Given the description of an element on the screen output the (x, y) to click on. 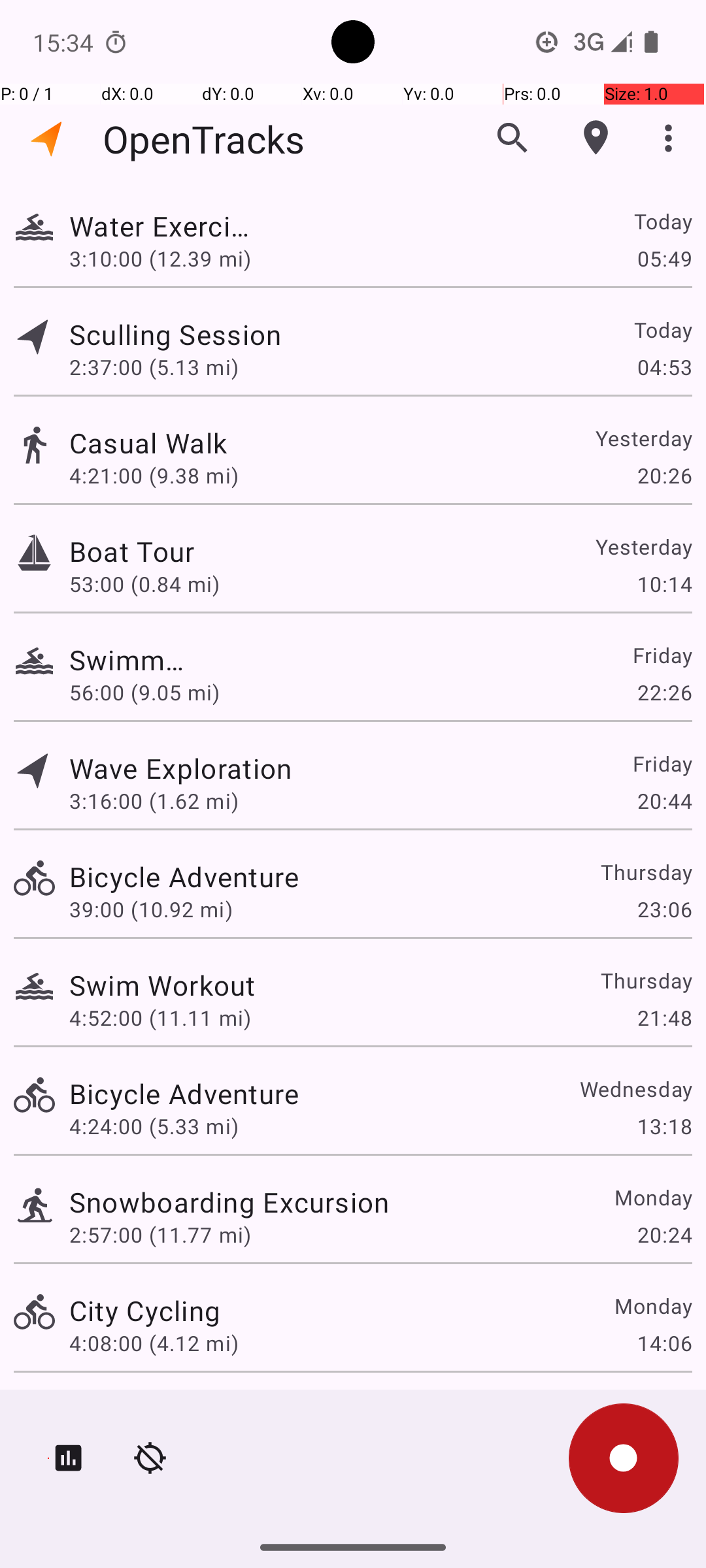
Water Exercise Element type: android.widget.TextView (162, 225)
3:10:00 (12.39 mi) Element type: android.widget.TextView (159, 258)
05:49 Element type: android.widget.TextView (664, 258)
Sculling Session Element type: android.widget.TextView (183, 333)
2:37:00 (5.13 mi) Element type: android.widget.TextView (153, 366)
04:53 Element type: android.widget.TextView (664, 366)
Casual Walk Element type: android.widget.TextView (229, 442)
4:21:00 (9.38 mi) Element type: android.widget.TextView (159, 475)
20:26 Element type: android.widget.TextView (664, 475)
53:00 (0.84 mi) Element type: android.widget.TextView (153, 583)
10:14 Element type: android.widget.TextView (664, 583)
Swimming Excursion Element type: android.widget.TextView (126, 659)
56:00 (9.05 mi) Element type: android.widget.TextView (144, 692)
22:26 Element type: android.widget.TextView (664, 692)
Wave Exploration Element type: android.widget.TextView (180, 767)
3:16:00 (1.62 mi) Element type: android.widget.TextView (153, 800)
20:44 Element type: android.widget.TextView (664, 800)
Bicycle Adventure Element type: android.widget.TextView (183, 876)
39:00 (10.92 mi) Element type: android.widget.TextView (150, 909)
23:06 Element type: android.widget.TextView (664, 909)
Swim Workout Element type: android.widget.TextView (162, 984)
4:52:00 (11.11 mi) Element type: android.widget.TextView (159, 1017)
21:48 Element type: android.widget.TextView (664, 1017)
4:24:00 (5.33 mi) Element type: android.widget.TextView (153, 1125)
13:18 Element type: android.widget.TextView (664, 1125)
Snowboarding Excursion Element type: android.widget.TextView (229, 1201)
2:57:00 (11.77 mi) Element type: android.widget.TextView (159, 1234)
20:24 Element type: android.widget.TextView (664, 1234)
City Cycling Element type: android.widget.TextView (144, 1309)
4:08:00 (4.12 mi) Element type: android.widget.TextView (153, 1342)
14:06 Element type: android.widget.TextView (664, 1342)
Slow day Element type: android.widget.TextView (126, 1408)
